Given the description of an element on the screen output the (x, y) to click on. 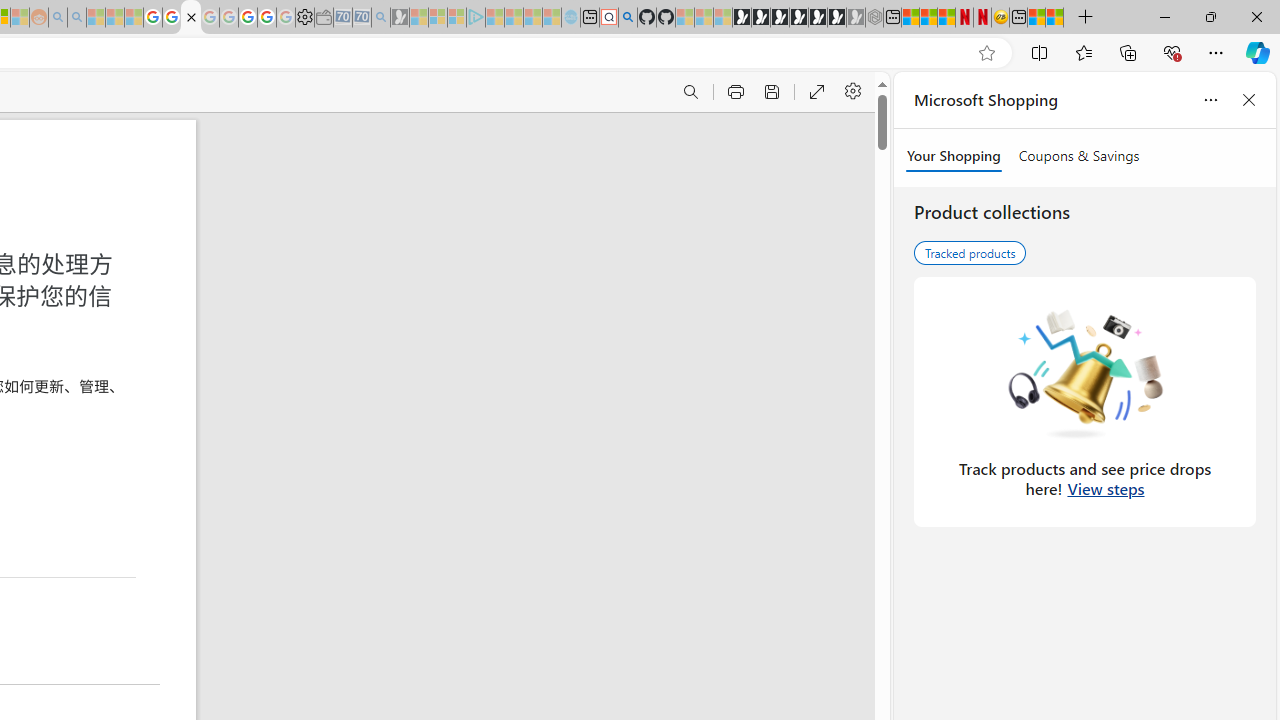
Settings and more (852, 92)
Save (Ctrl+S) (770, 92)
